Given the description of an element on the screen output the (x, y) to click on. 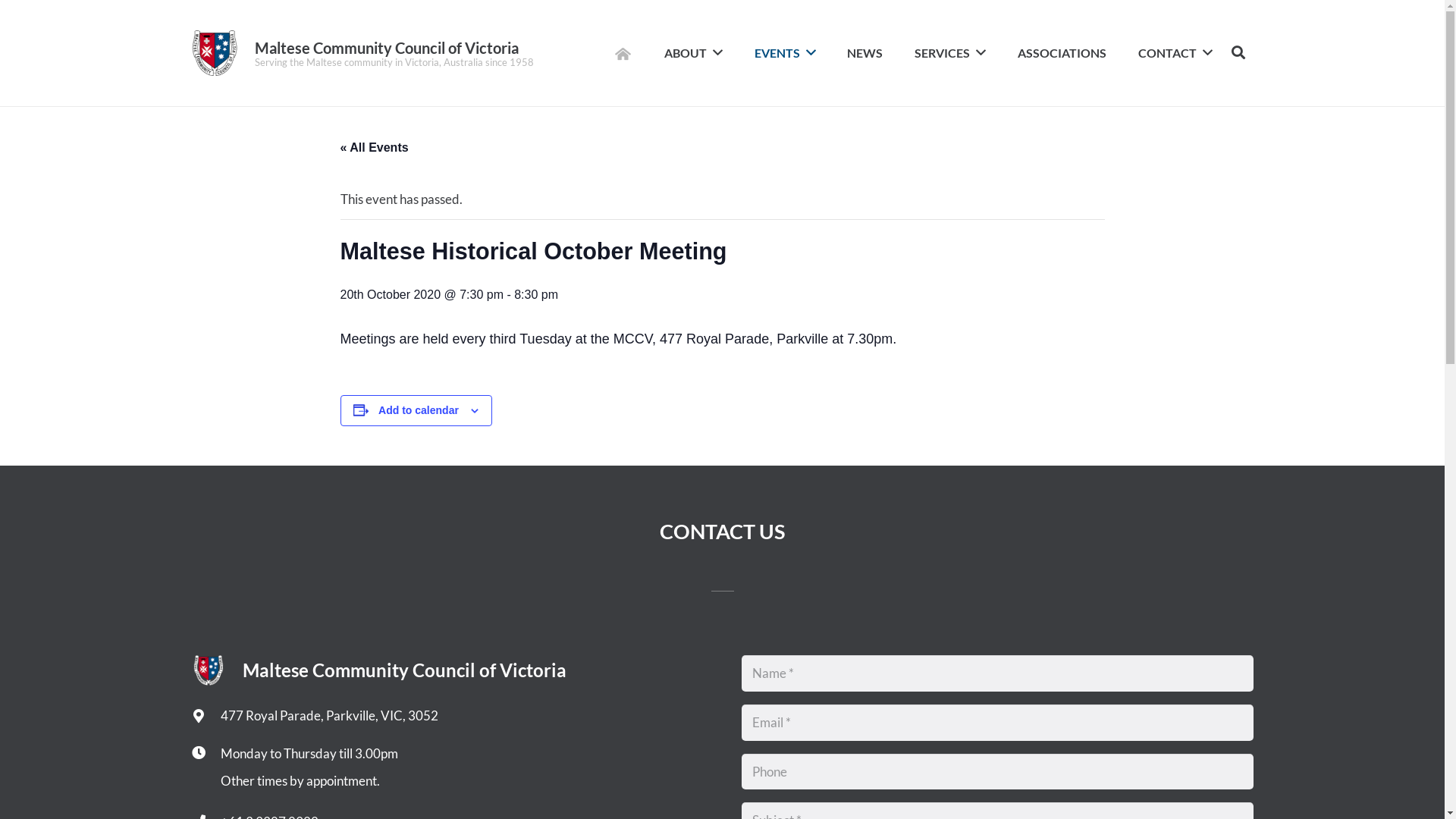
CONTACT Element type: text (1175, 53)
ABOUT Element type: text (693, 53)
Maltese Community Council of Victoria Element type: text (386, 47)
Add to calendar Element type: text (418, 410)
NEWS Element type: text (864, 53)
SERVICES Element type: text (949, 53)
EVENTS Element type: text (784, 53)
ASSOCIATIONS Element type: text (1062, 53)
